Given the description of an element on the screen output the (x, y) to click on. 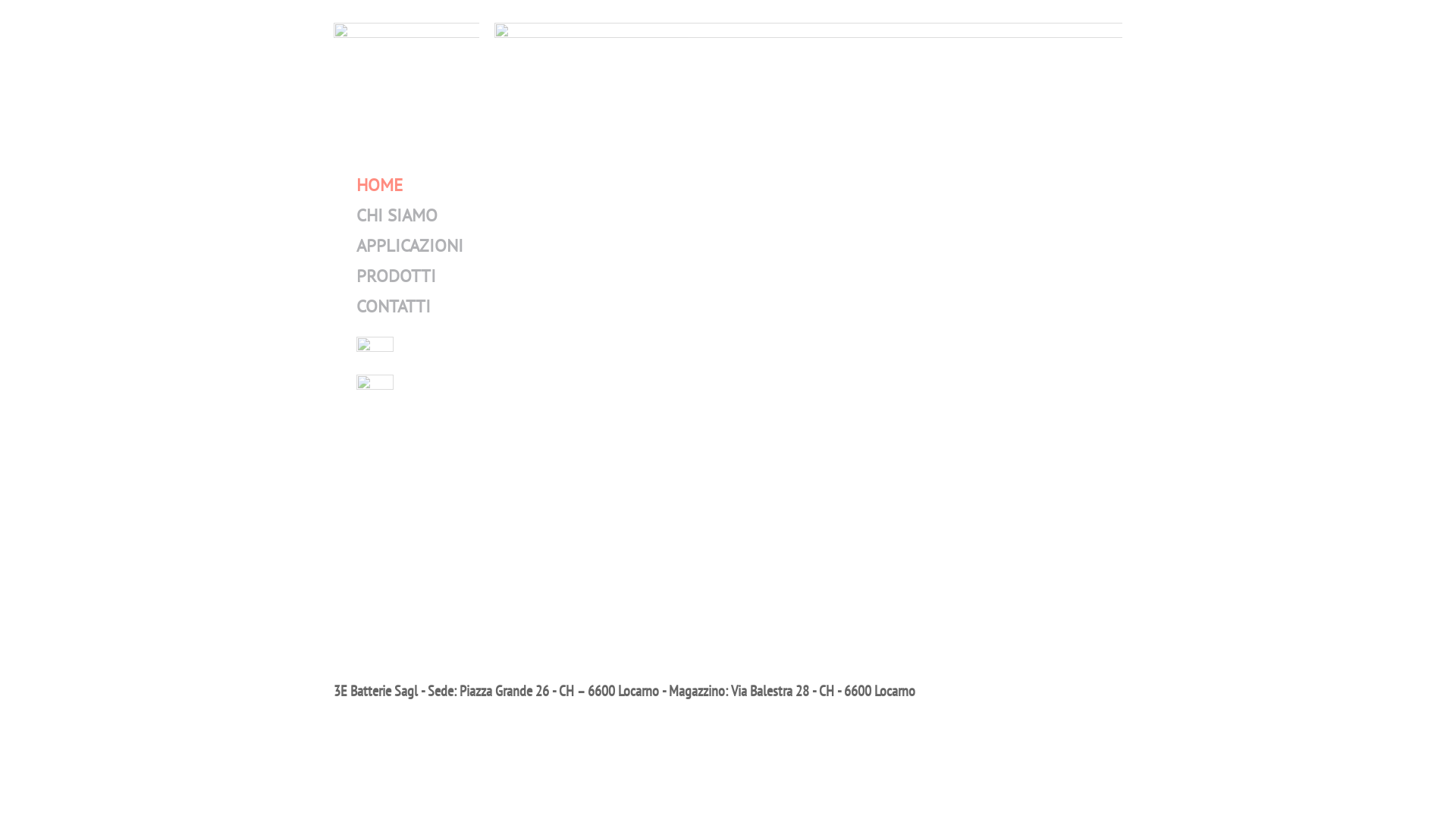
CHI SIAMO Element type: text (396, 214)
CONTATTI Element type: text (393, 305)
APPLICAZIONI Element type: text (409, 245)
PRODOTTI Element type: text (396, 275)
HOME Element type: text (379, 184)
